Given the description of an element on the screen output the (x, y) to click on. 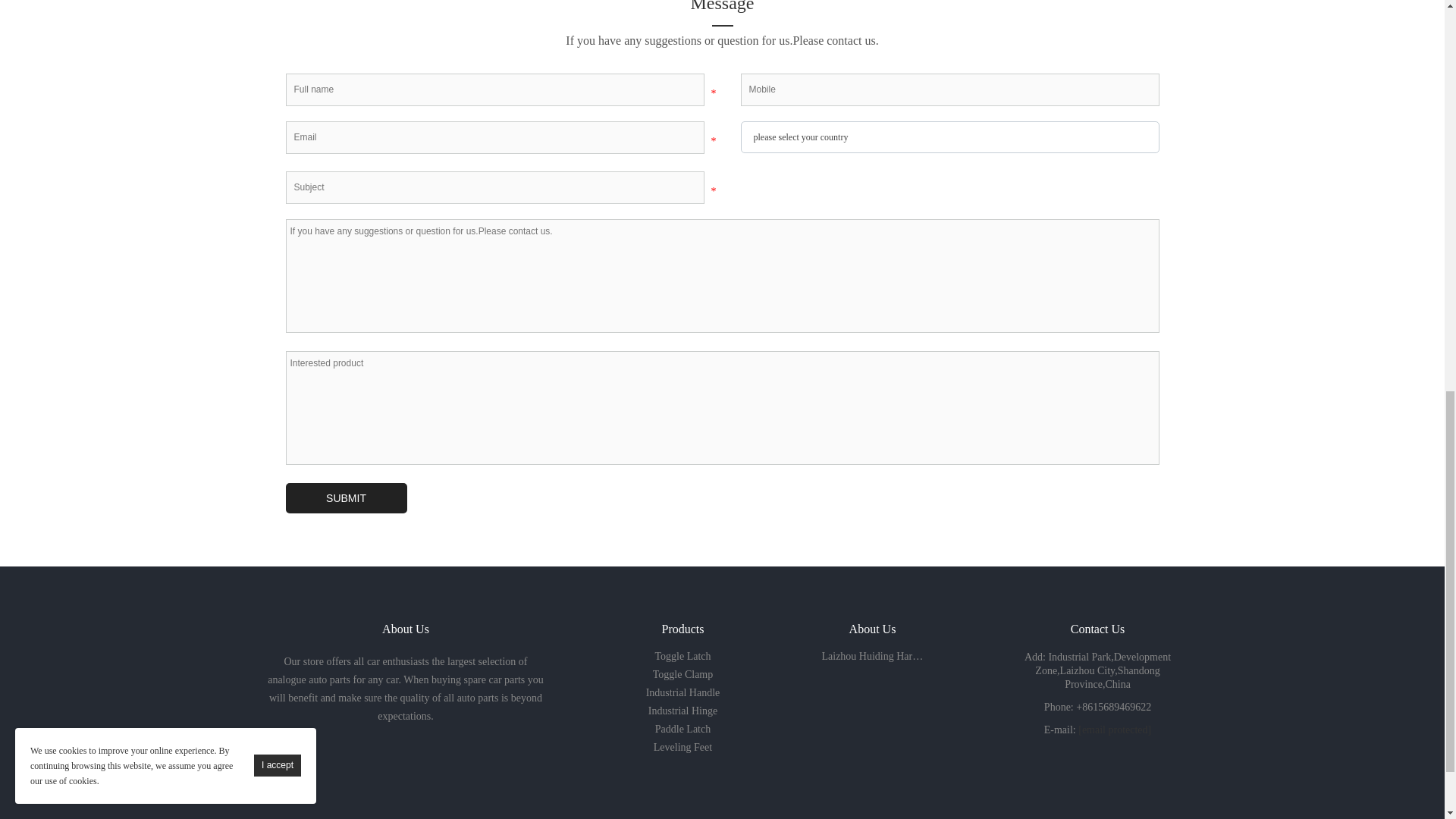
Submit (345, 498)
